Given the description of an element on the screen output the (x, y) to click on. 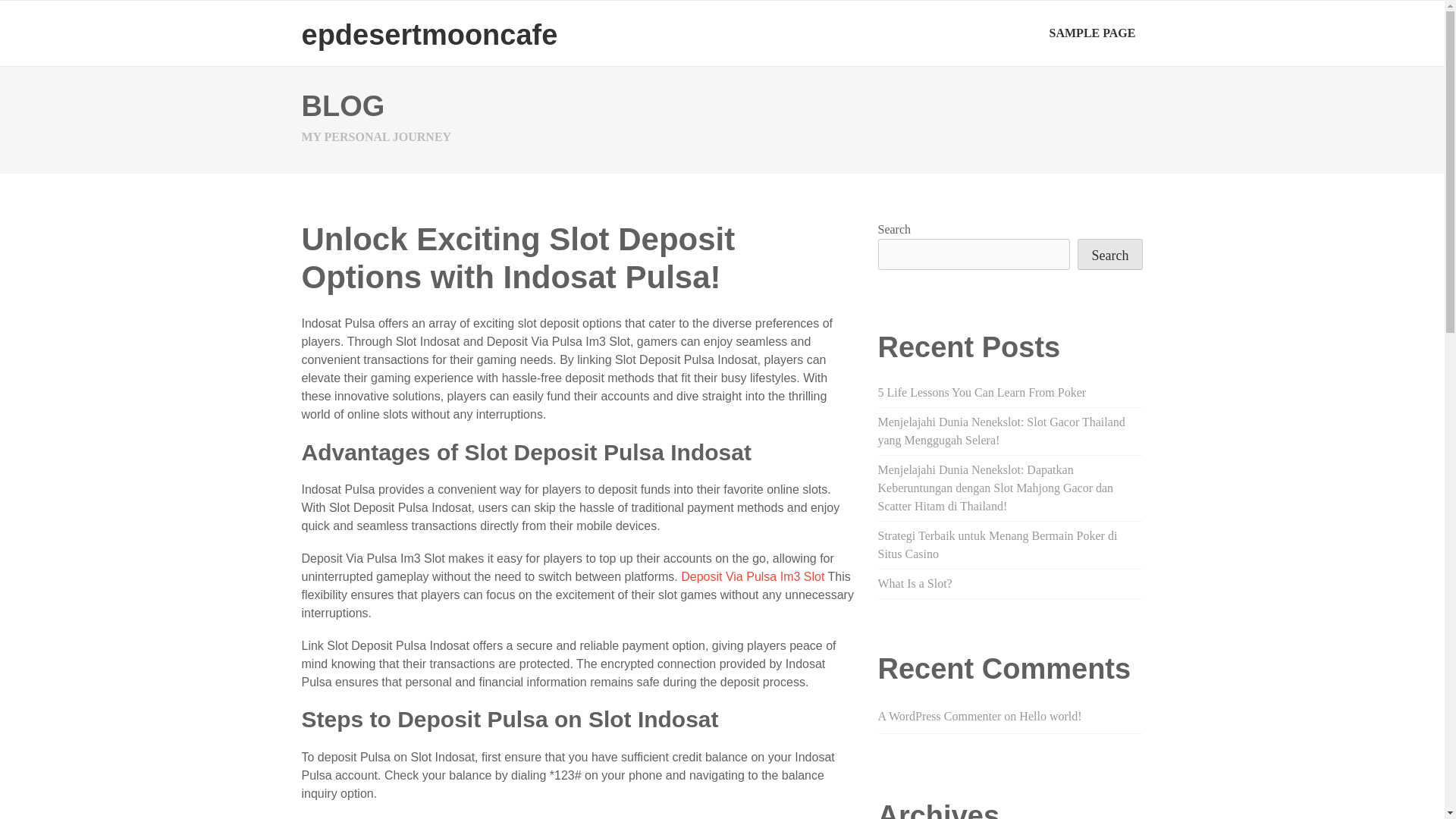
5 Life Lessons You Can Learn From Poker (981, 391)
What Is a Slot? (914, 583)
Hello world! (1050, 716)
Deposit Via Pulsa Im3 Slot (752, 576)
Strategi Terbaik untuk Menang Bermain Poker di Situs Casino (997, 544)
Search (1109, 254)
A WordPress Commenter (939, 716)
epdesertmooncafe (429, 34)
SAMPLE PAGE (1092, 33)
